Given the description of an element on the screen output the (x, y) to click on. 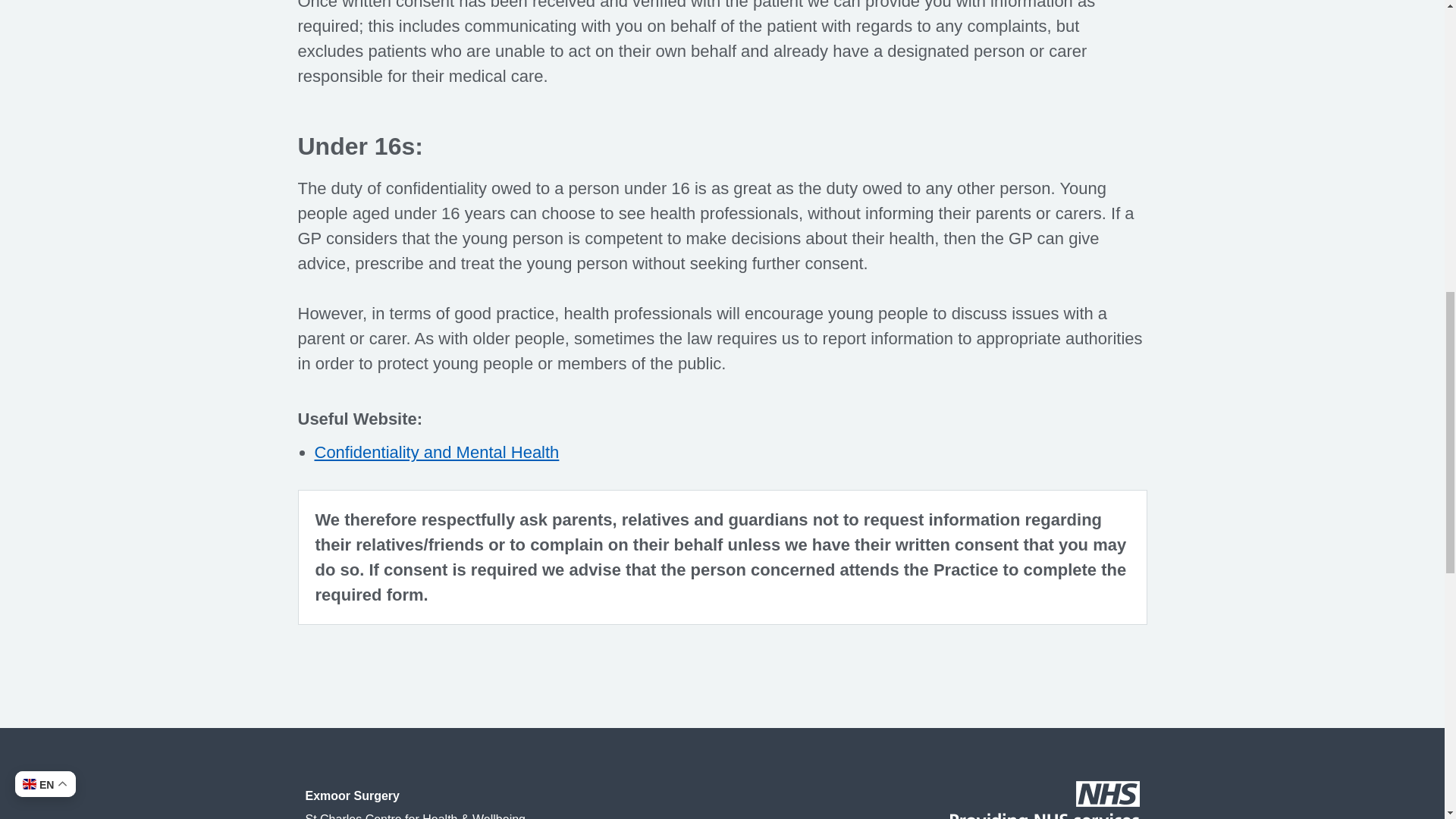
Confidentiality and Mental Health (436, 452)
